Given the description of an element on the screen output the (x, y) to click on. 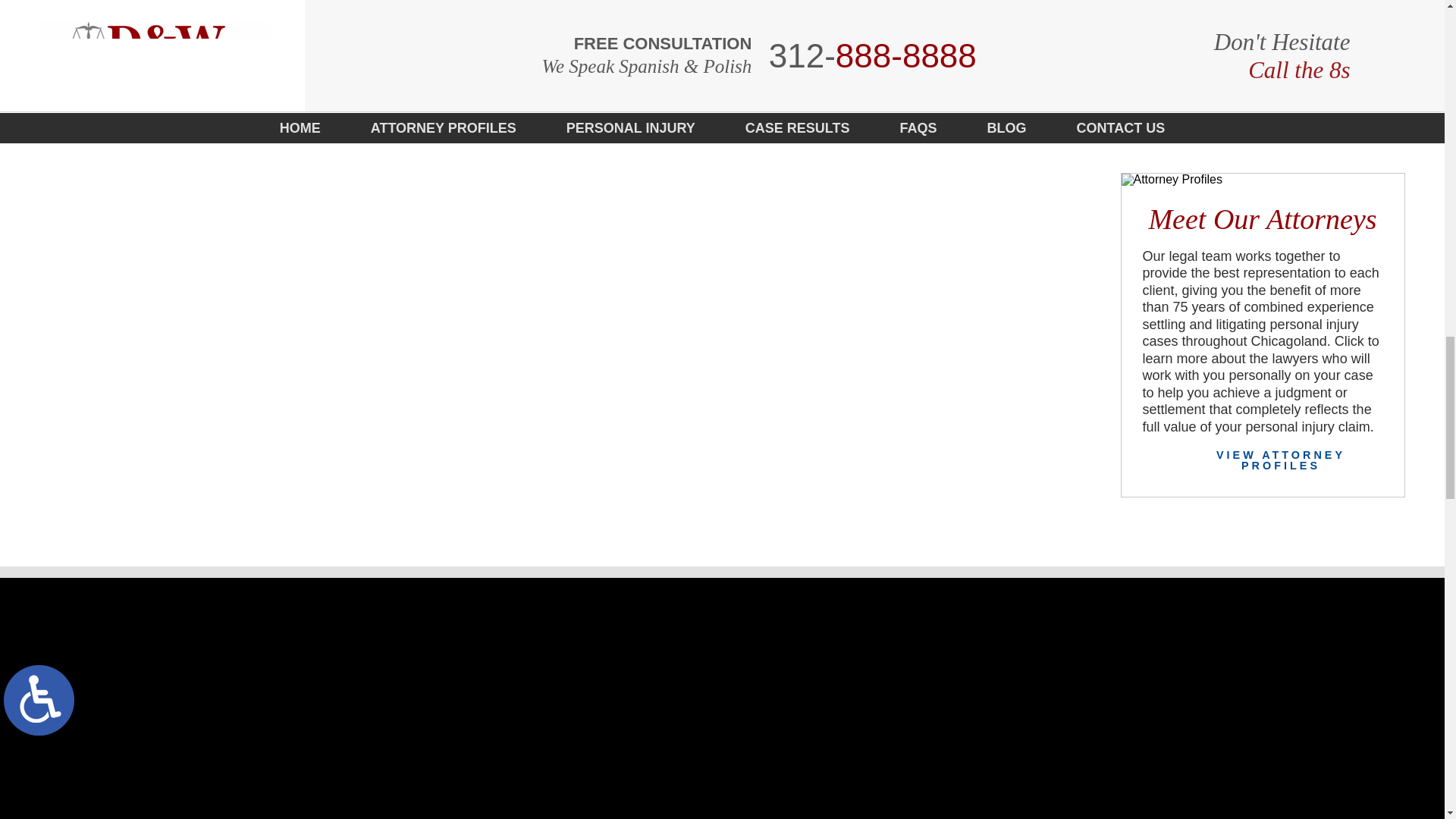
Attorney Profiles (1262, 179)
